Given the description of an element on the screen output the (x, y) to click on. 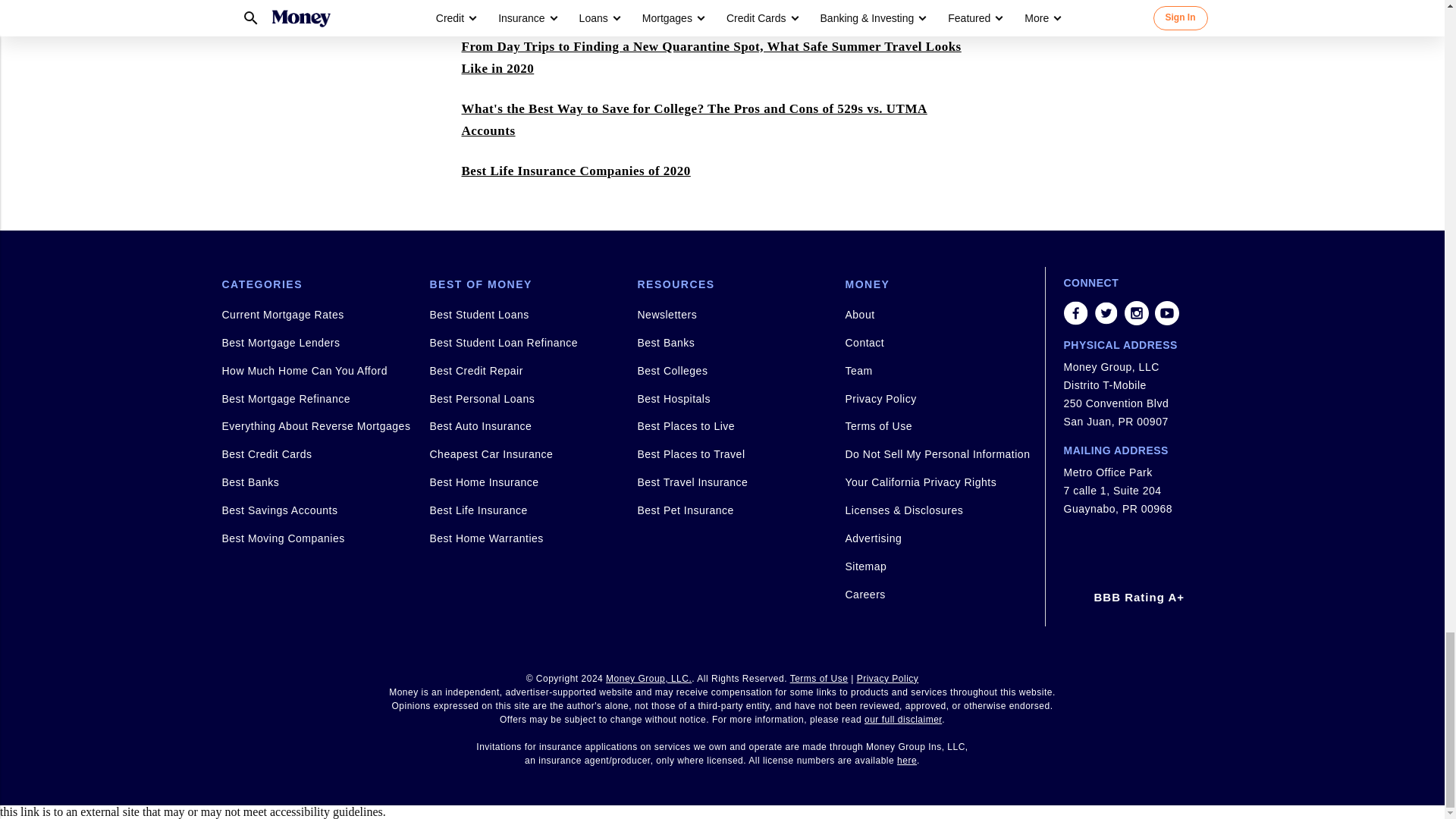
twitter share (1105, 313)
facebook share (1074, 313)
youtube share (1165, 313)
instagram share (1136, 313)
